Given the description of an element on the screen output the (x, y) to click on. 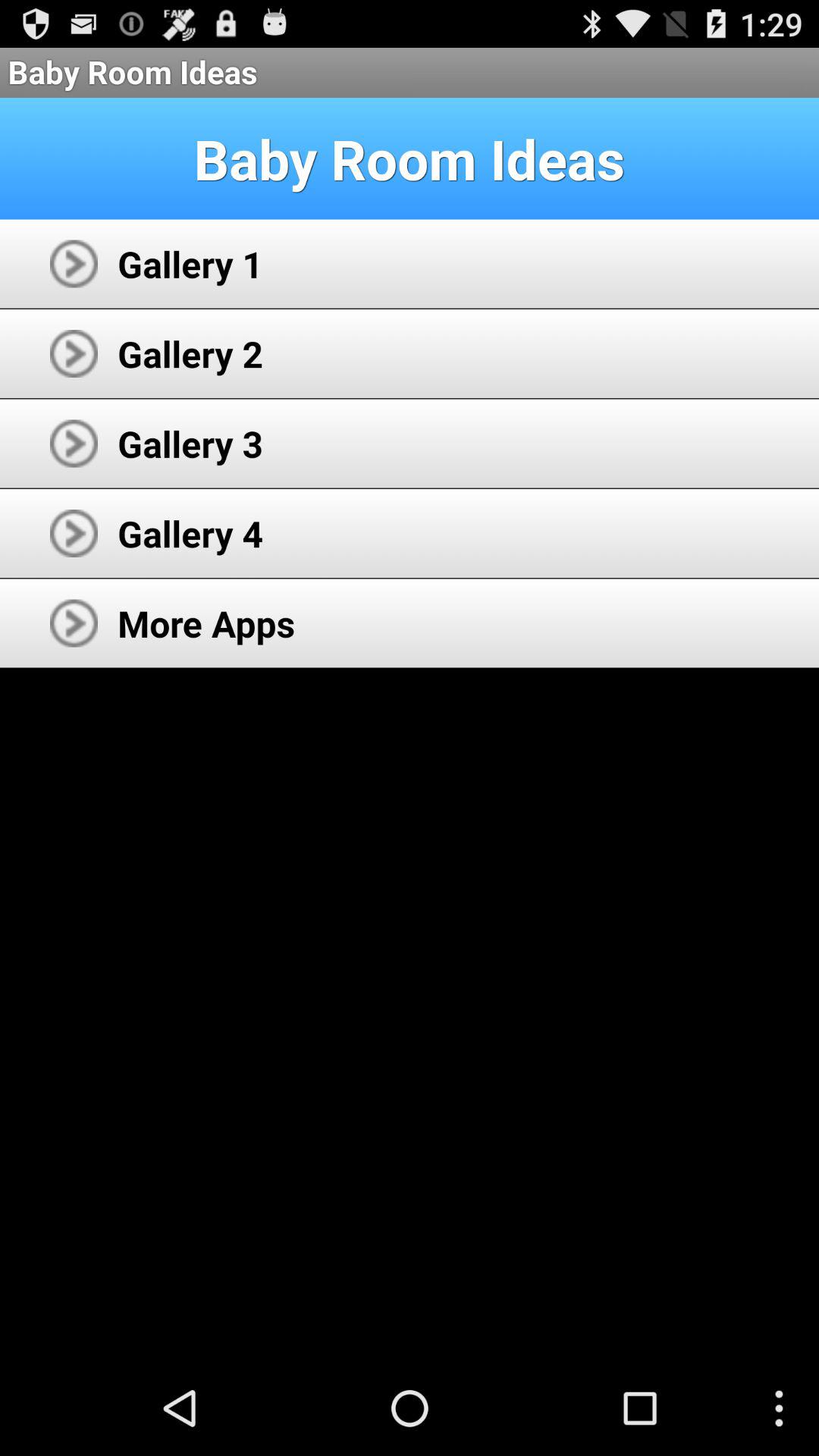
press the gallery 2 (190, 353)
